Given the description of an element on the screen output the (x, y) to click on. 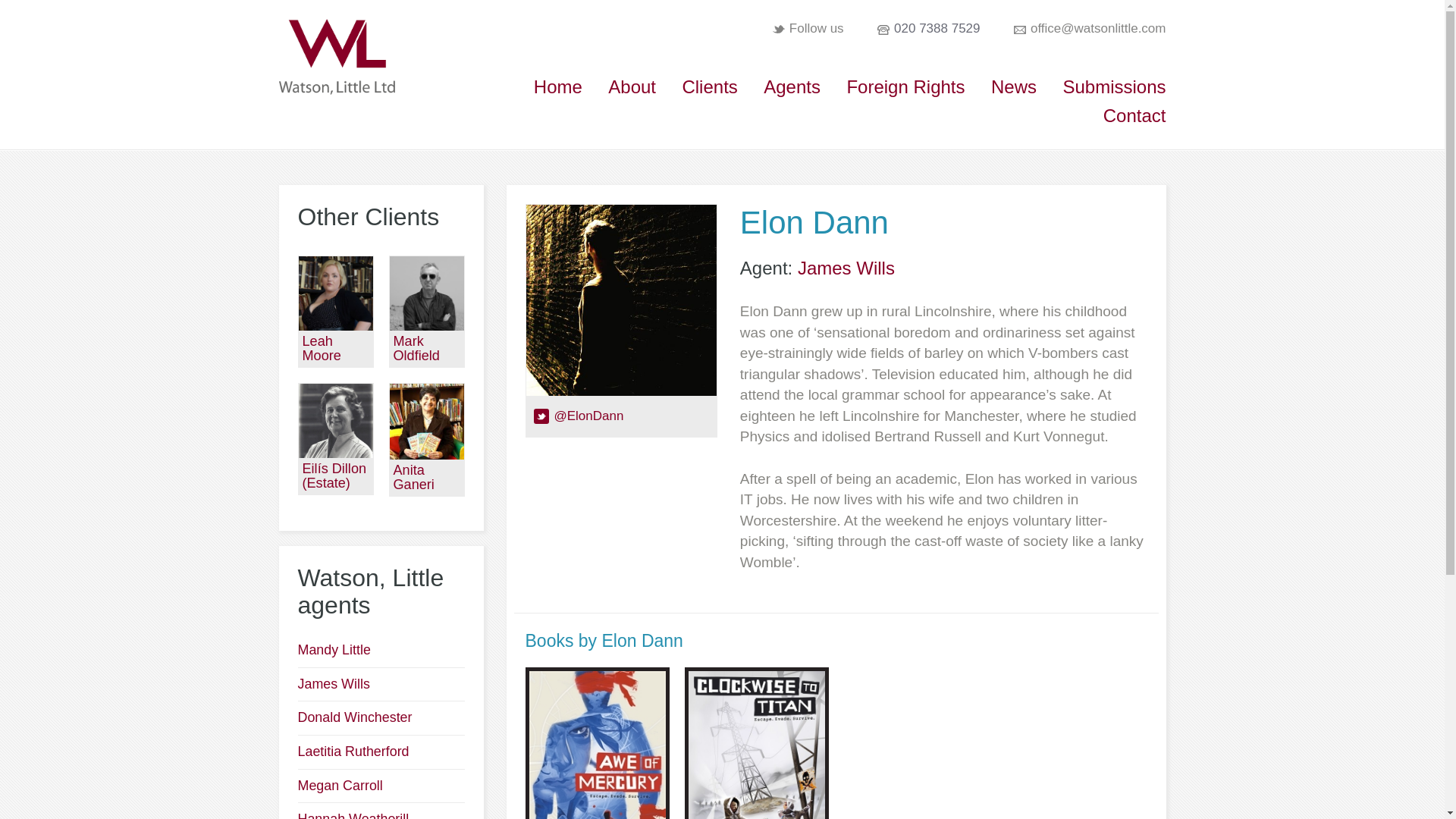
Leah Moore (320, 348)
Contact (1134, 115)
Submissions (1114, 86)
About (632, 86)
Anita Ganeri (413, 477)
News (1013, 86)
Agents (791, 86)
Follow us (816, 28)
Megan Carroll (339, 785)
Laetitia Rutherford (353, 751)
